Given the description of an element on the screen output the (x, y) to click on. 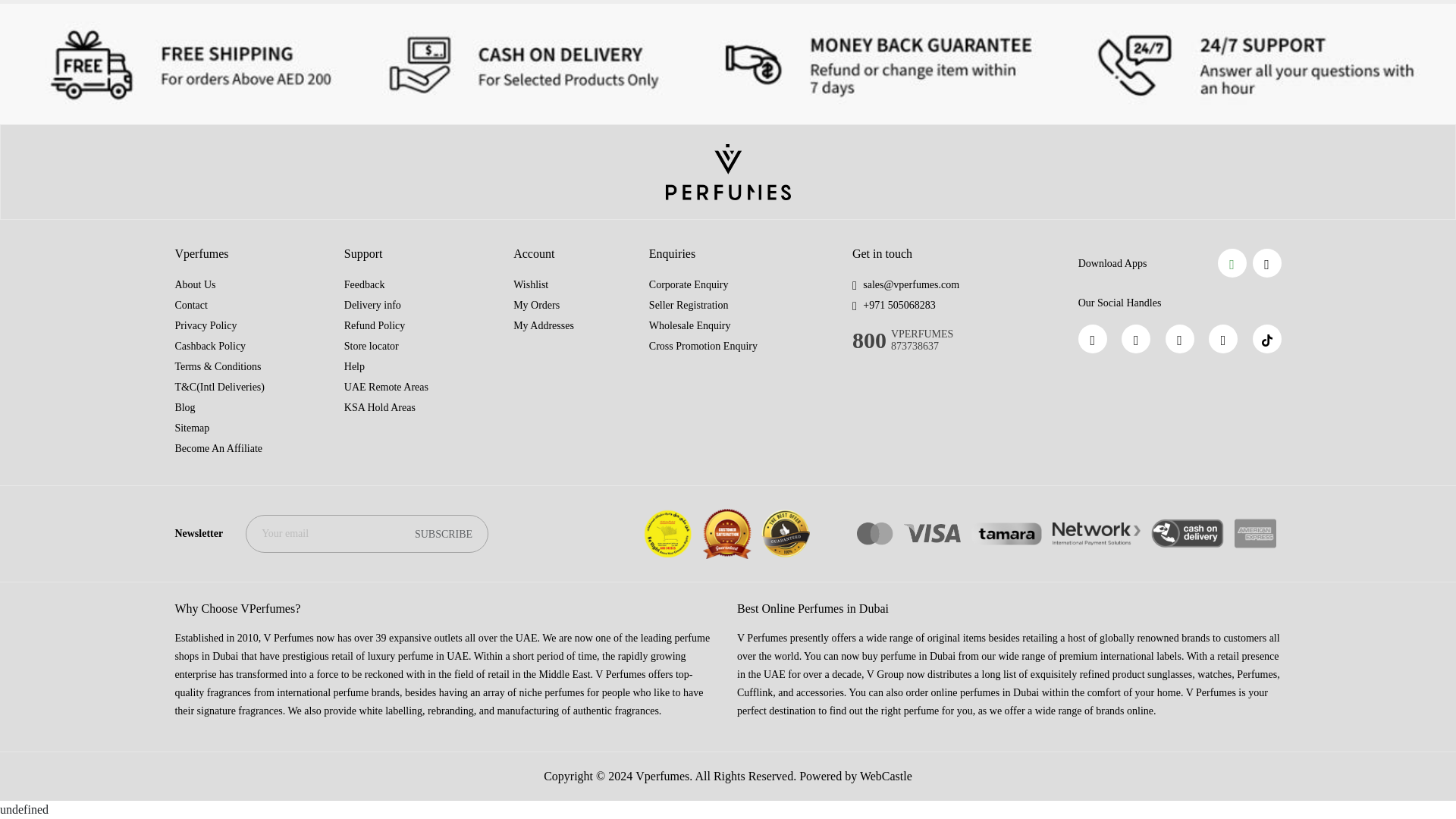
Folow us on Instagram (1179, 338)
Folow us on Tiktok (1266, 338)
Folow us on Whatsapp (1135, 338)
Folow us on Facebook (1092, 338)
Folow us on Twitter (1222, 338)
